Given the description of an element on the screen output the (x, y) to click on. 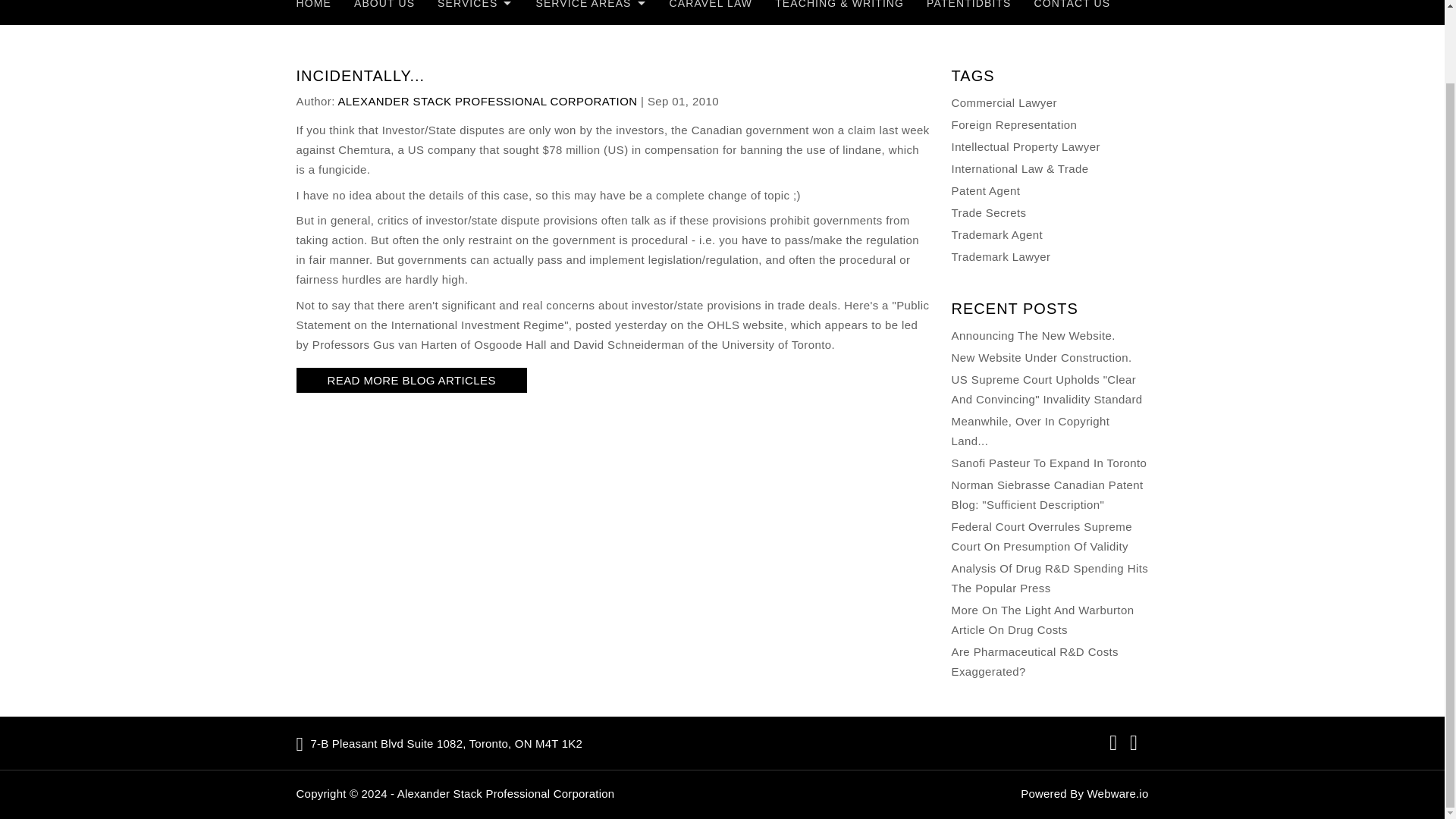
ABOUT US (384, 6)
New Website Under Construction. (1042, 357)
Trademark Lawyer (1001, 256)
Trademark Agent (997, 234)
Patent Agent (986, 190)
SERVICES (475, 6)
HOME (319, 6)
READ MORE BLOG ARTICLES (412, 380)
SERVICE AREAS (591, 6)
CONTACT US (1072, 6)
Intellectual Property Lawyer (1026, 146)
Announcing The New Website. (1033, 335)
Trade Secrets (989, 212)
PATENTIDBITS (968, 6)
Commercial Lawyer (1004, 102)
